Given the description of an element on the screen output the (x, y) to click on. 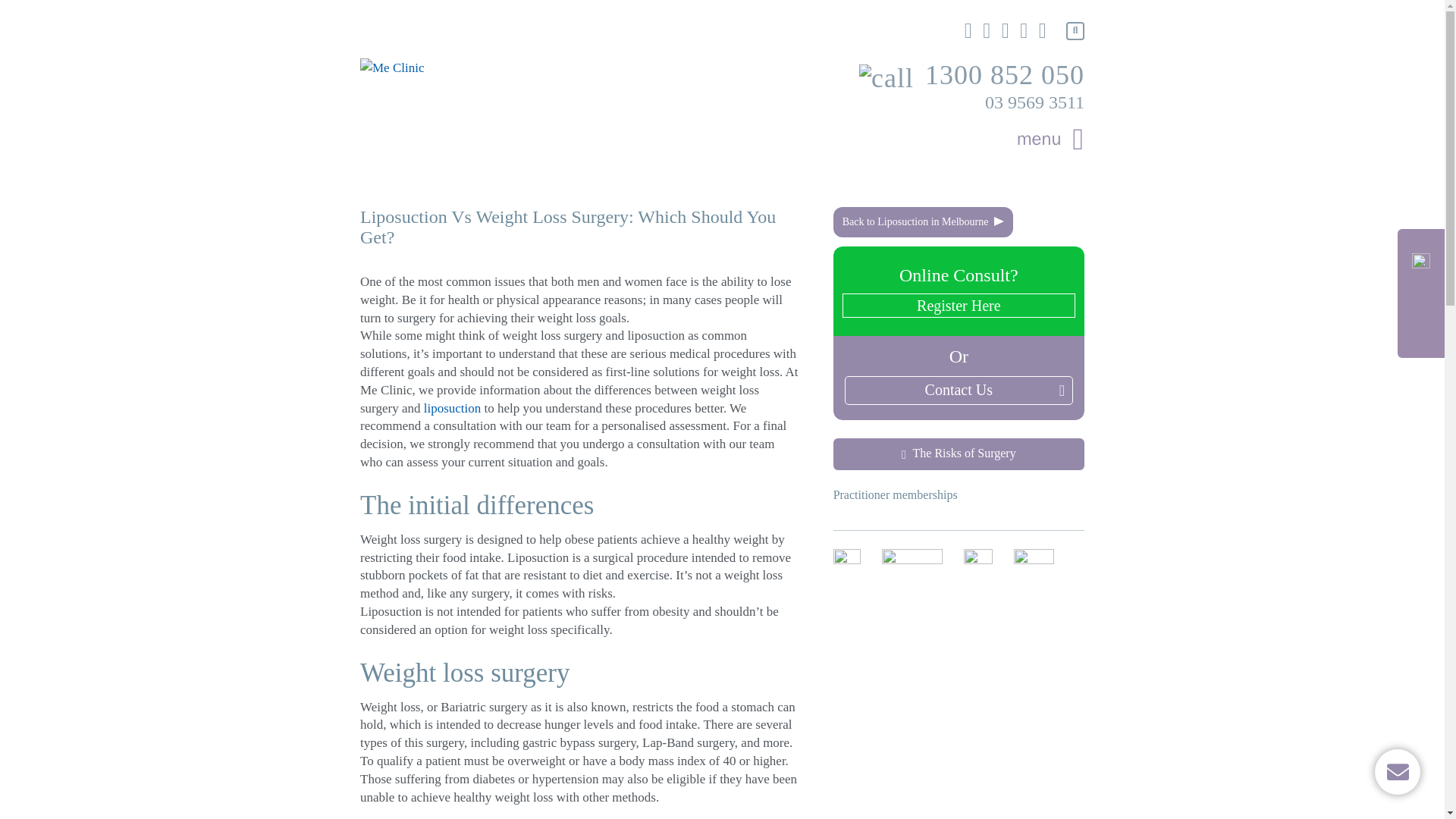
menu (1050, 139)
1300 852 050 (971, 76)
03 9569 3511 (1034, 102)
